Given the description of an element on the screen output the (x, y) to click on. 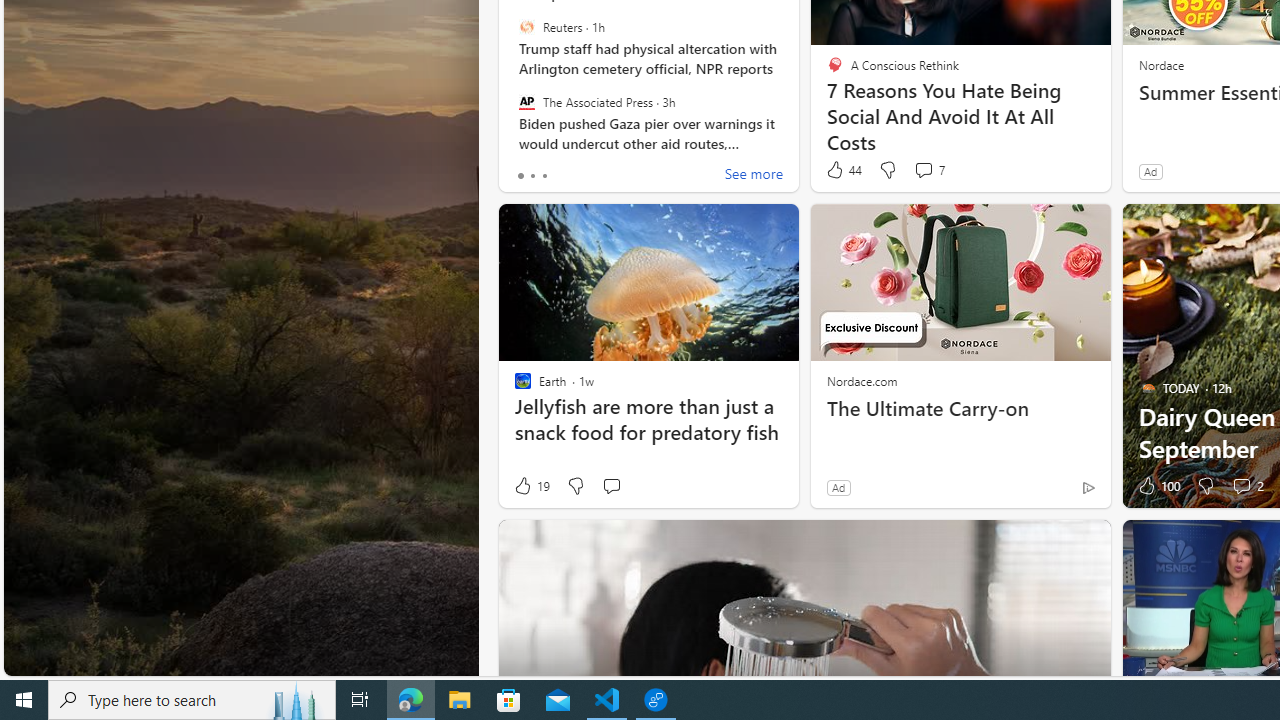
Nordace (1160, 64)
Dislike (1204, 485)
tab-2 (543, 175)
Ad Choice (1087, 487)
See more (753, 175)
View comments 2 Comment (1241, 485)
Nordace.com (861, 380)
View comments 2 Comment (1247, 485)
